Given the description of an element on the screen output the (x, y) to click on. 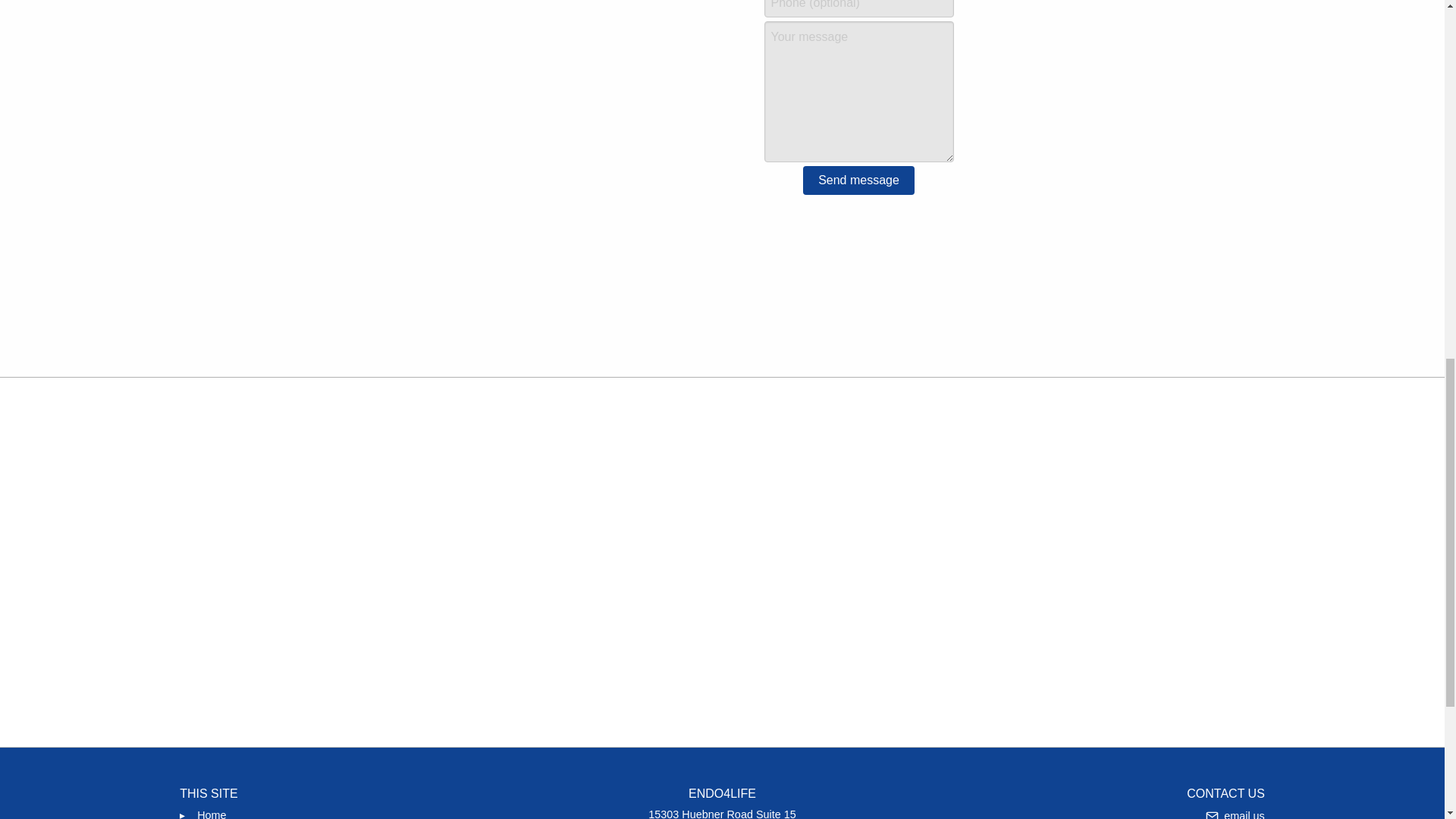
email us (1235, 811)
Send message (722, 812)
Home (858, 180)
Send message (210, 811)
